Given the description of an element on the screen output the (x, y) to click on. 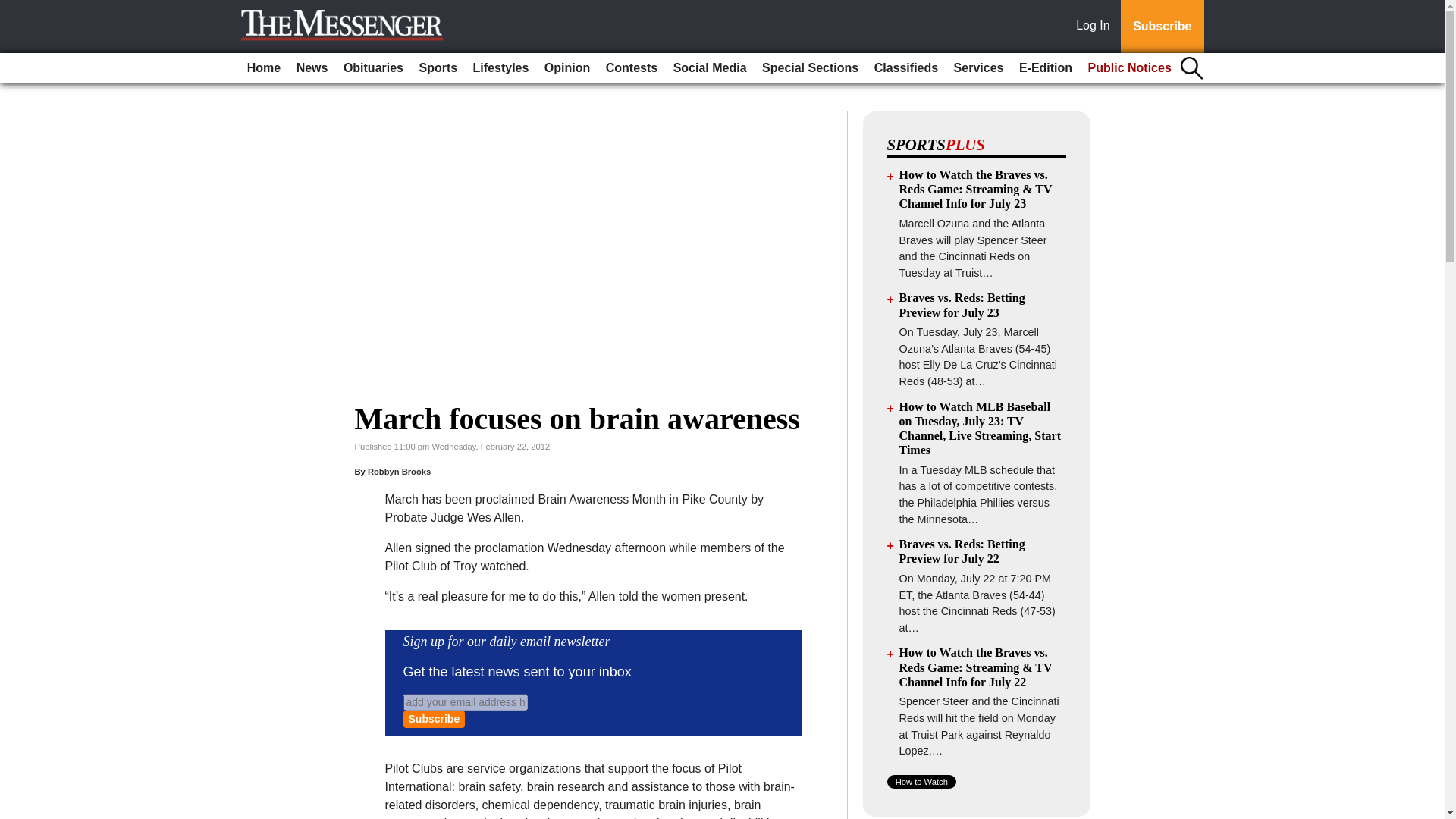
News (311, 68)
Opinion (566, 68)
Lifestyles (501, 68)
Home (263, 68)
Subscribe (434, 719)
Social Media (709, 68)
E-Edition (1045, 68)
Services (978, 68)
Classifieds (905, 68)
Contests (631, 68)
Log In (1095, 26)
Obituaries (373, 68)
Special Sections (809, 68)
Sports (437, 68)
Subscribe (1162, 26)
